Given the description of an element on the screen output the (x, y) to click on. 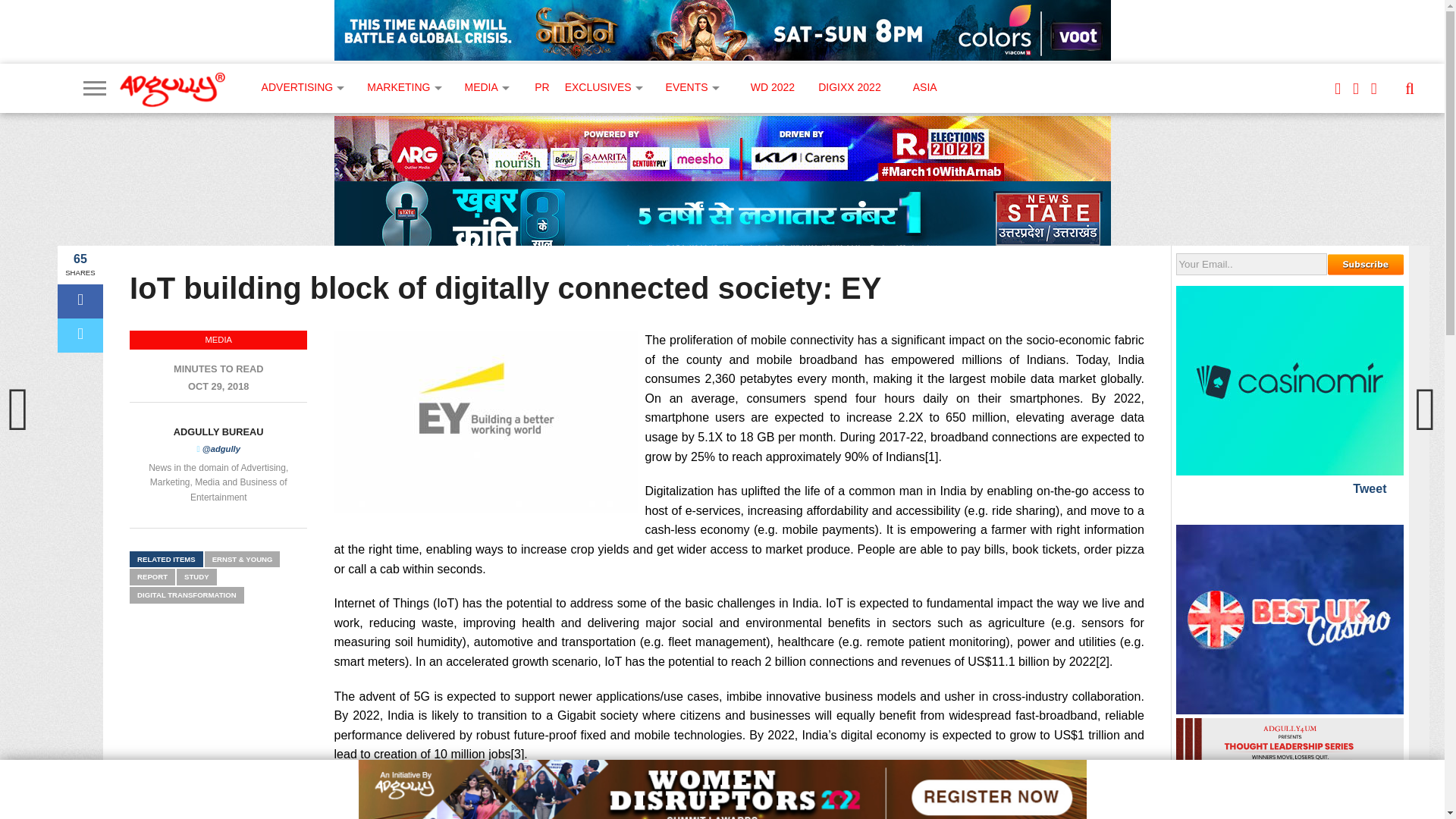
Tweet This Post (80, 335)
Share on Facebook (80, 301)
Your Email.. (1251, 264)
Posts by Adgully Bureau (218, 431)
